Given the description of an element on the screen output the (x, y) to click on. 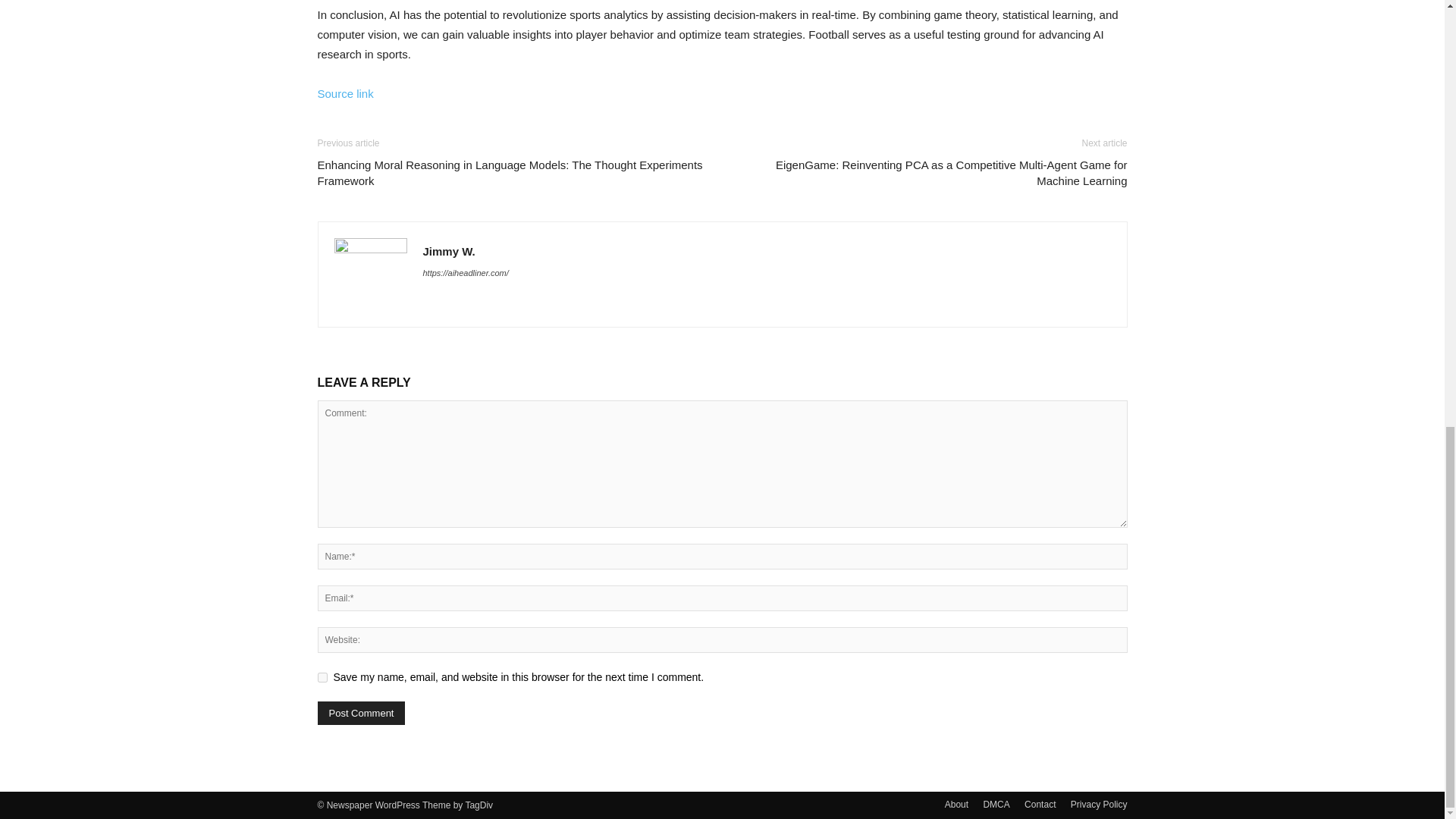
yes (321, 677)
DMCA (995, 804)
Jimmy W. (449, 250)
Post Comment (360, 712)
Source link (344, 92)
Privacy Policy (1098, 804)
About (956, 804)
Post Comment (360, 712)
